Given the description of an element on the screen output the (x, y) to click on. 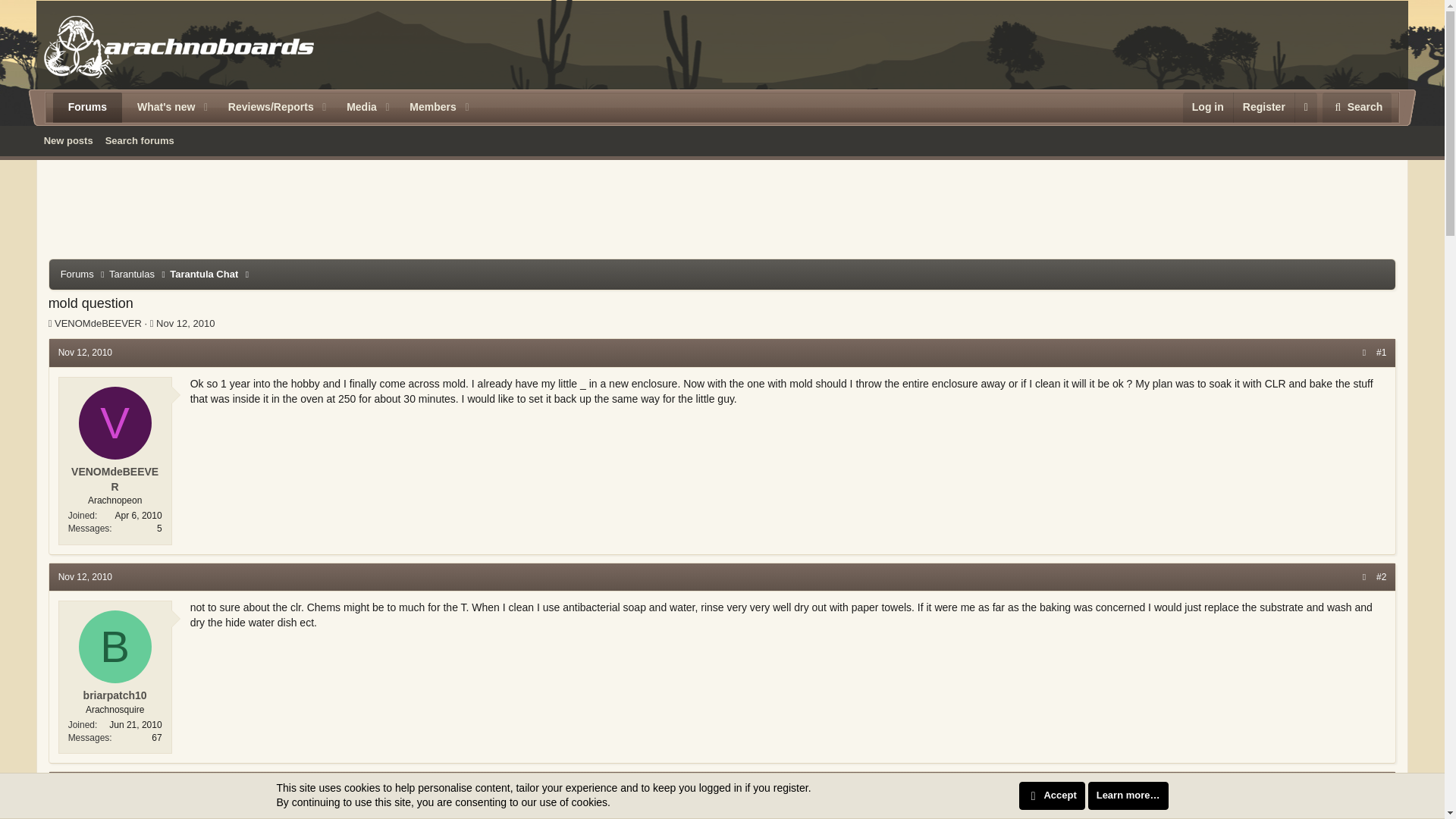
Nov 12, 2010 at 10:32 PM (184, 323)
New posts (68, 140)
What's new (160, 107)
Nov 12, 2010 at 10:32 PM (85, 352)
Search forums (139, 140)
Search (722, 140)
Log in (1356, 107)
Register (1207, 107)
Forums (1263, 107)
Members (87, 107)
Search (427, 107)
Nov 12, 2010 at 10:51 PM (1356, 107)
Nov 12, 2010 at 10:49 PM (85, 785)
Media (85, 576)
